Given the description of an element on the screen output the (x, y) to click on. 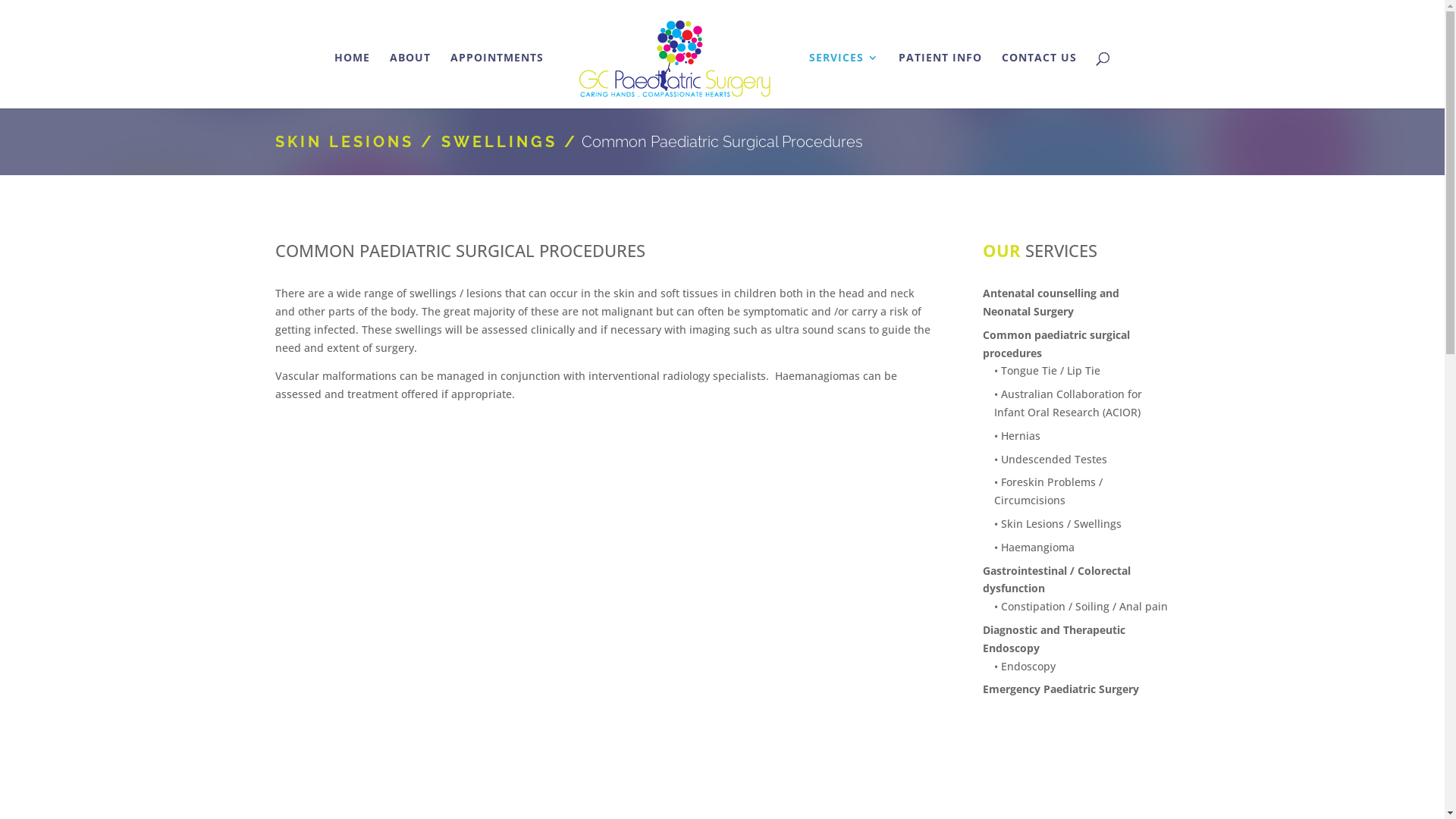
HOME Element type: text (352, 80)
Gastrointestinal / Colorectal dysfunction Element type: text (1056, 579)
SERVICES Element type: text (843, 80)
ABOUT Element type: text (409, 80)
APPOINTMENTS Element type: text (496, 80)
PATIENT INFO Element type: text (940, 80)
Emergency Paediatric Surgery Element type: text (1060, 688)
Common paediatric surgical procedures Element type: text (1055, 343)
Antenatal counselling and Neonatal Surgery Element type: text (1050, 301)
CONTACT US Element type: text (1038, 80)
Diagnostic and Therapeutic Endoscopy Element type: text (1053, 638)
